Given the description of an element on the screen output the (x, y) to click on. 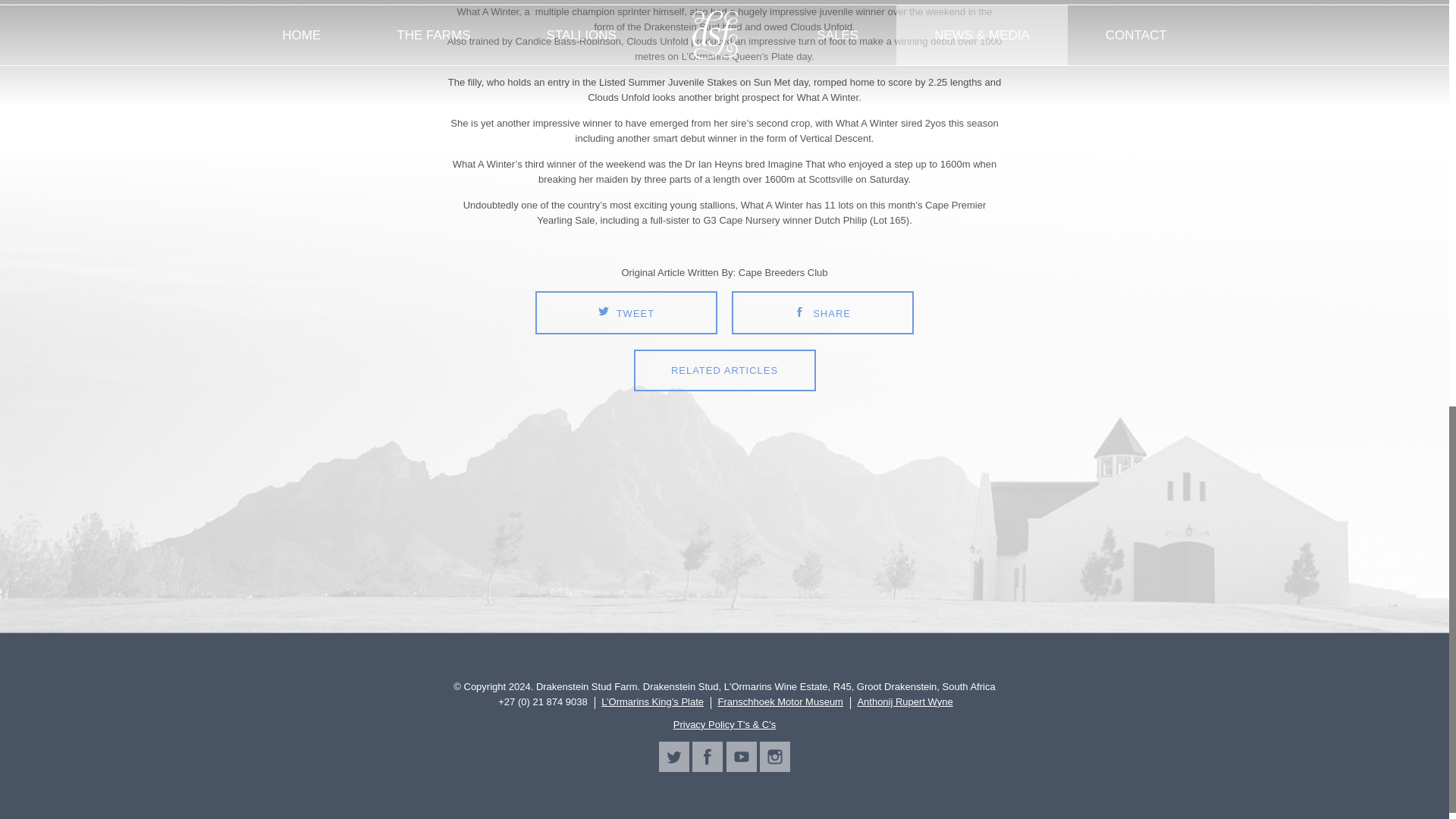
instagram (775, 757)
RELATED ARTICLES (724, 370)
Franschhoek Motor Museum (780, 702)
TWEET (626, 312)
SHARE (823, 312)
twitter (673, 757)
Anthonij Rupert Wyne (904, 702)
youtube (741, 757)
facebook (707, 757)
